Given the description of an element on the screen output the (x, y) to click on. 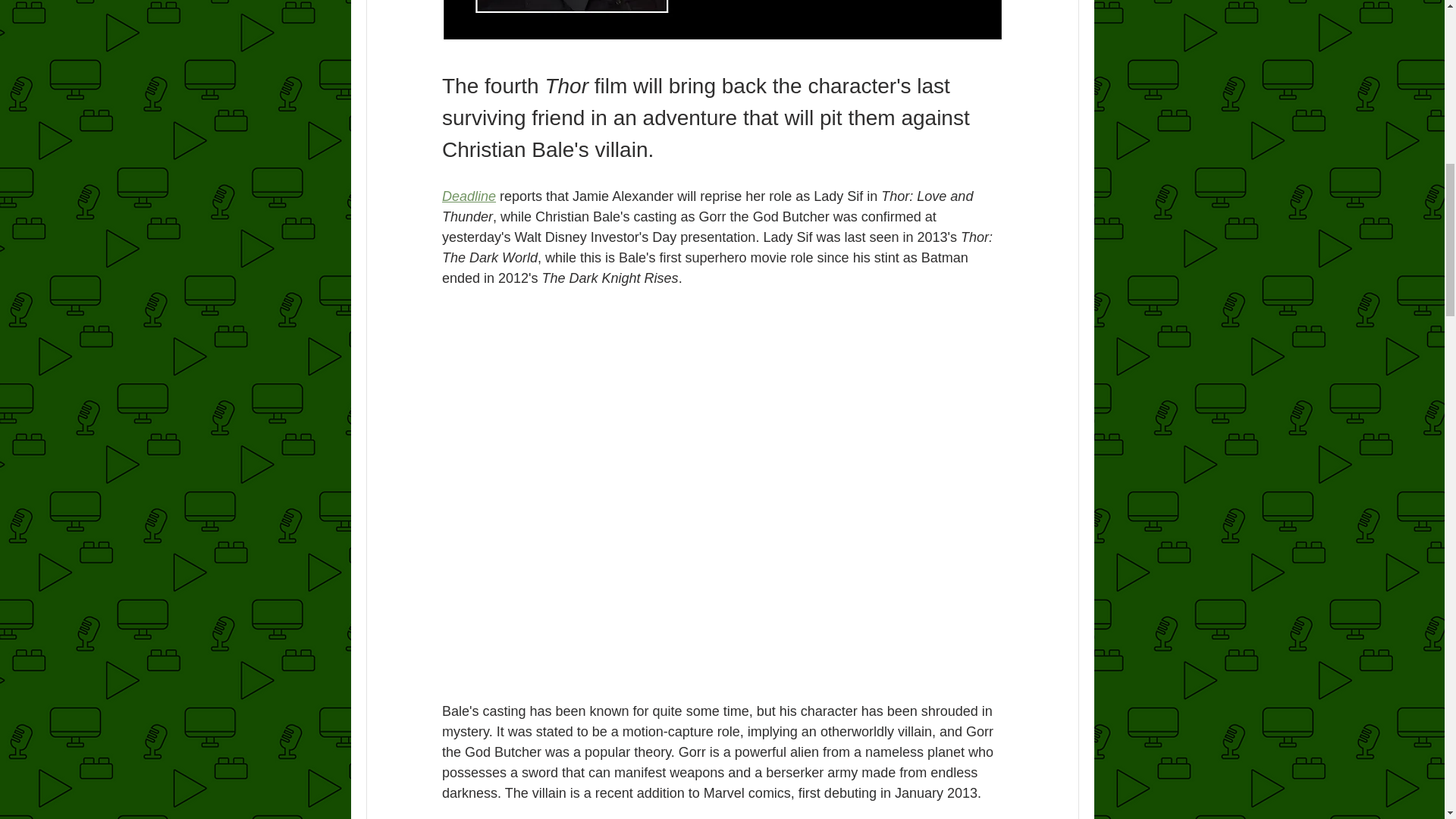
Deadline (468, 196)
